Given the description of an element on the screen output the (x, y) to click on. 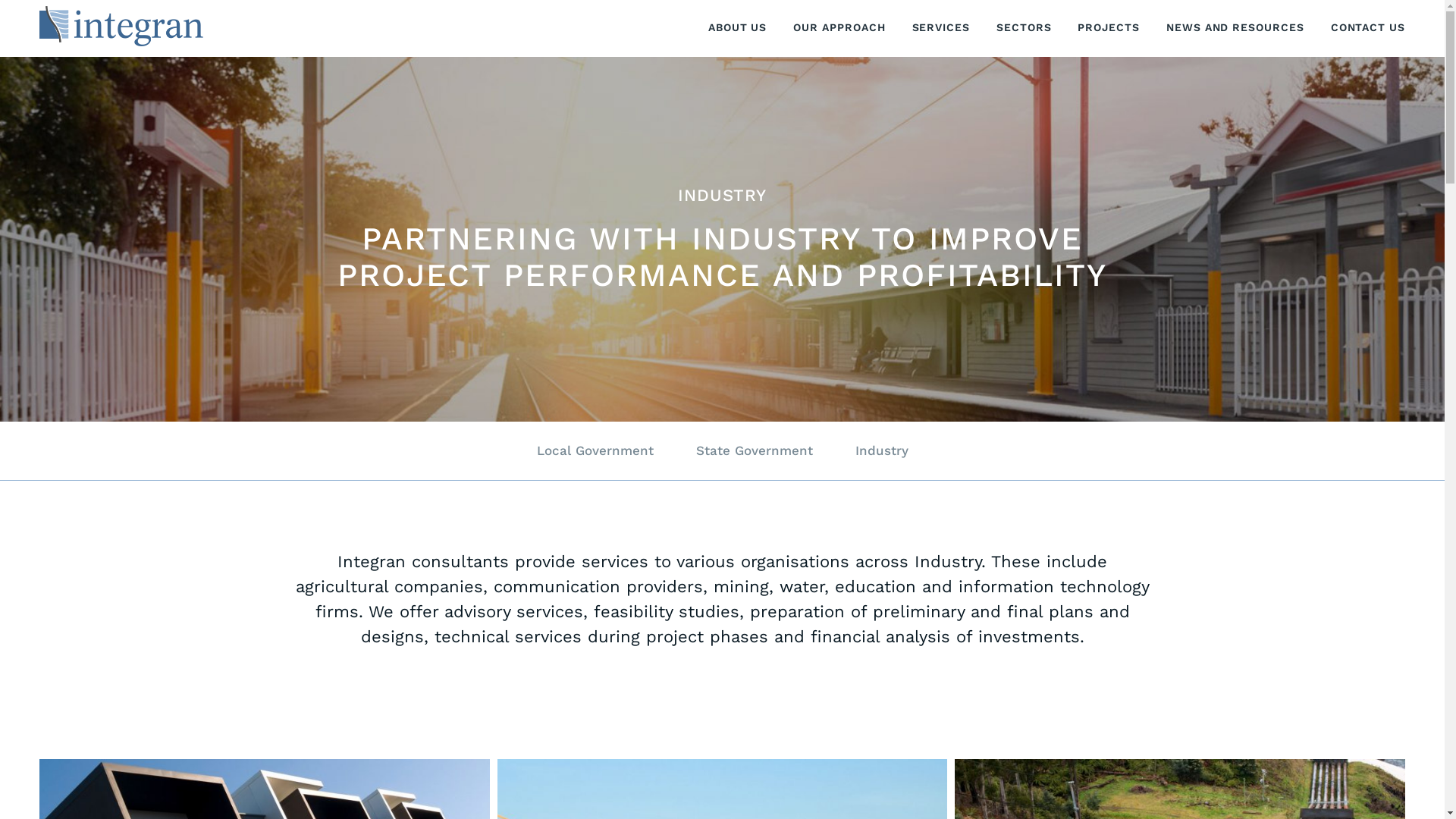
PROJECTS Element type: text (1108, 26)
SECTORS Element type: text (1023, 26)
NEWS AND RESOURCES Element type: text (1235, 26)
SERVICES Element type: text (940, 26)
CONTACT US Element type: text (1367, 26)
Local Government Element type: text (594, 450)
State Government Element type: text (754, 450)
ABOUT US Element type: text (737, 26)
Industry Element type: text (881, 450)
OUR APPROACH Element type: text (838, 26)
